Given the description of an element on the screen output the (x, y) to click on. 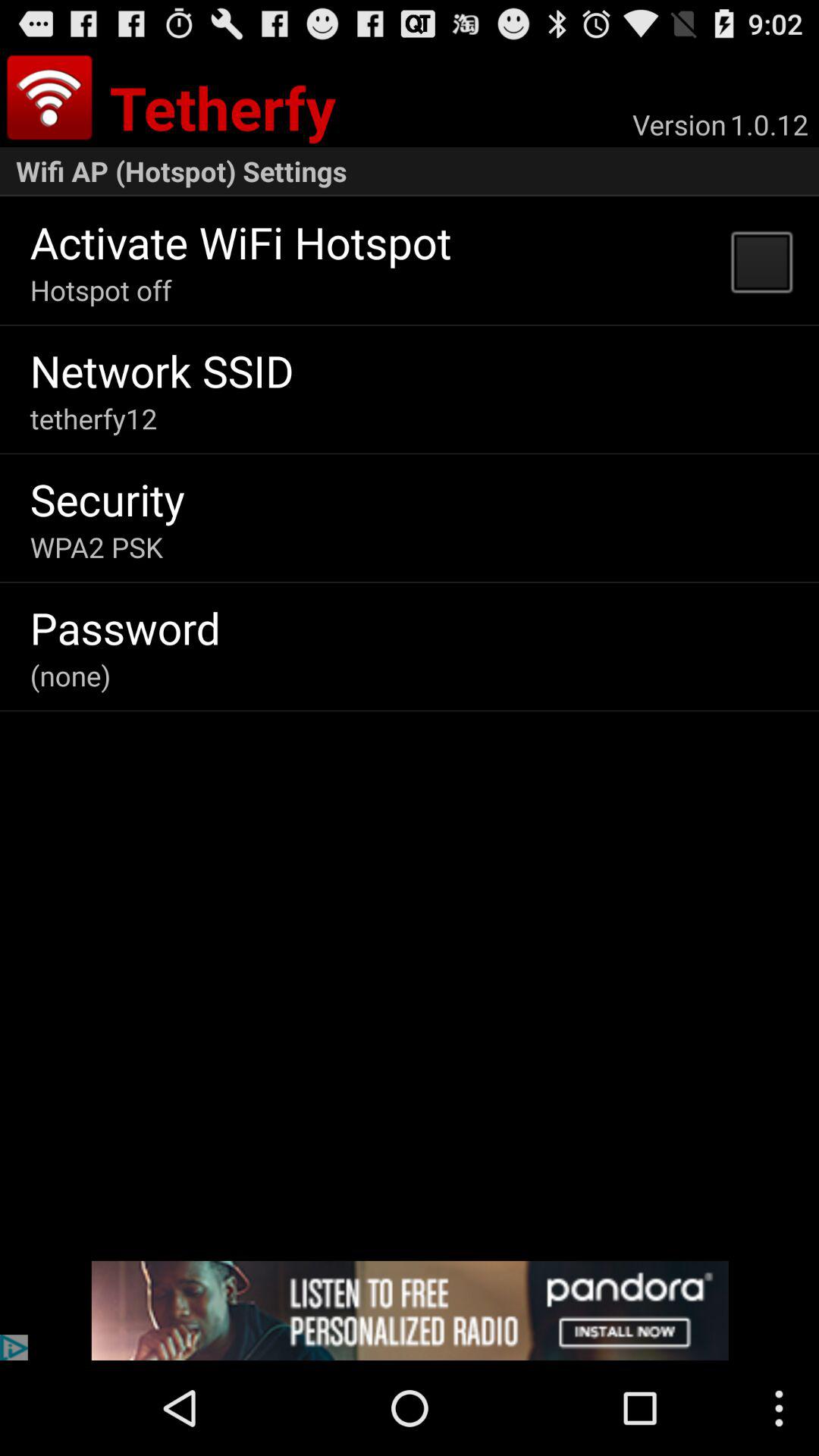
launch the app below security (96, 546)
